Given the description of an element on the screen output the (x, y) to click on. 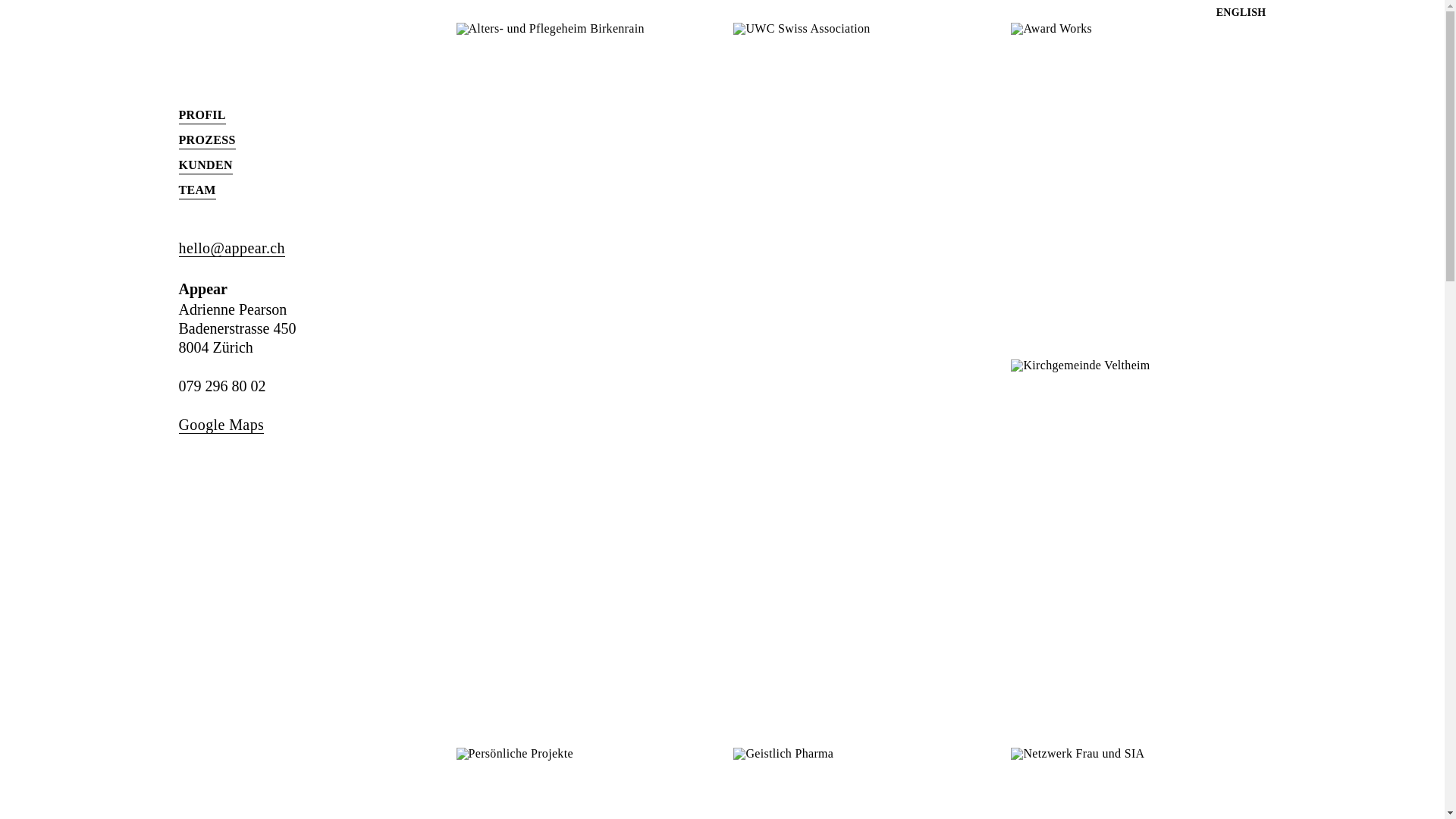
Google Maps Element type: text (221, 424)
ENGLISH Element type: text (1241, 12)
hello@appear.ch Element type: text (231, 248)
PROFIL Element type: text (201, 115)
KUNDEN Element type: text (205, 165)
TEAM Element type: text (197, 190)
PROZESS Element type: text (206, 140)
